Given the description of an element on the screen output the (x, y) to click on. 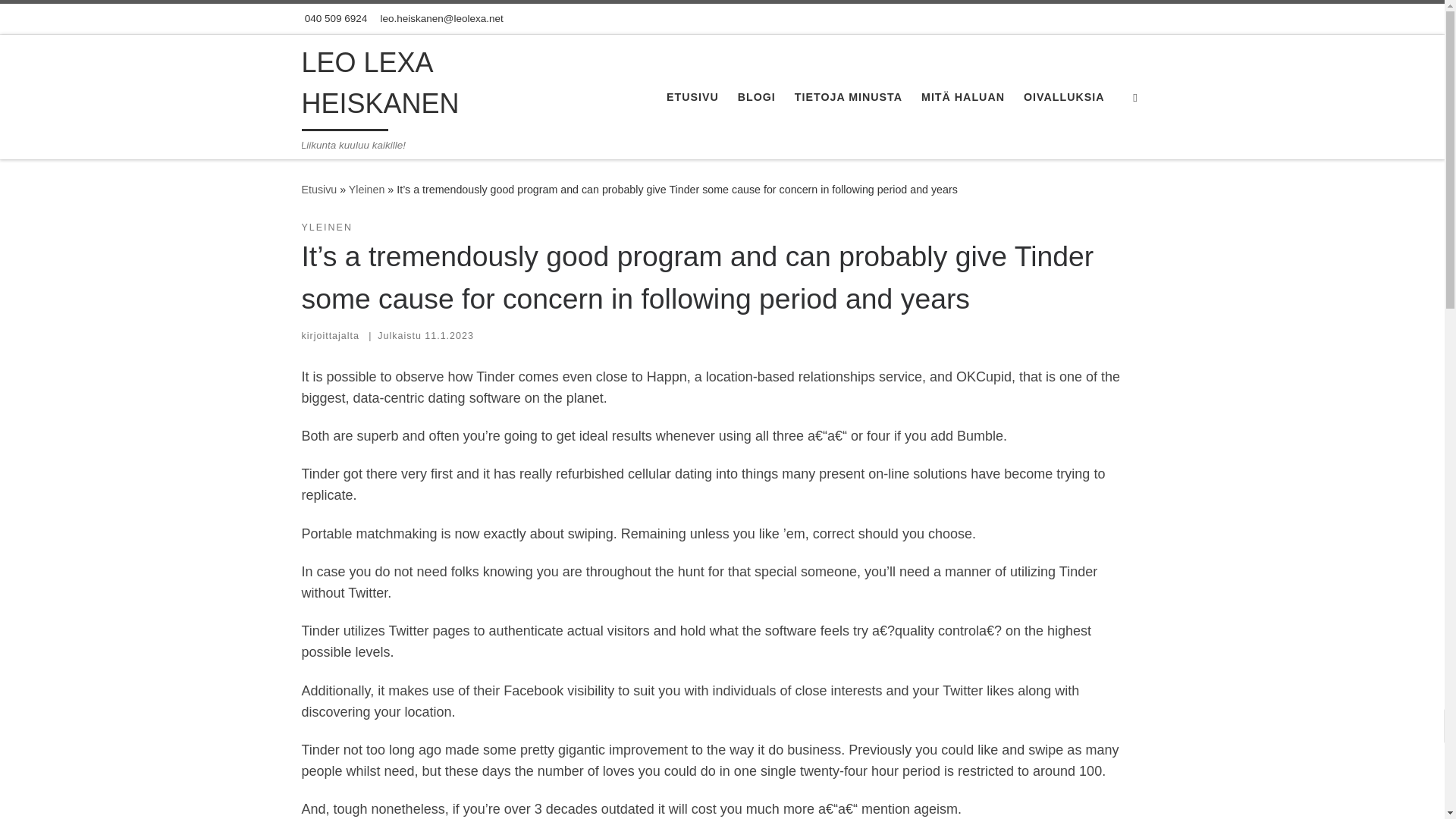
TIETOJA MINUSTA (848, 97)
Yleinen (367, 189)
BLOGI (756, 97)
ETUSIVU (692, 97)
Etusivu (319, 189)
LEO LEXA HEISKANEN (319, 189)
11.1.2023 (449, 335)
YLEINEN (326, 227)
040 509 6924 (334, 19)
Katso kaikki artikkelit kategoriassa Yleinen (326, 227)
Yleinen (367, 189)
040 509 6924 (334, 19)
Skip to content (60, 20)
LEO LEXA HEISKANEN (432, 86)
05:26 (449, 335)
